Given the description of an element on the screen output the (x, y) to click on. 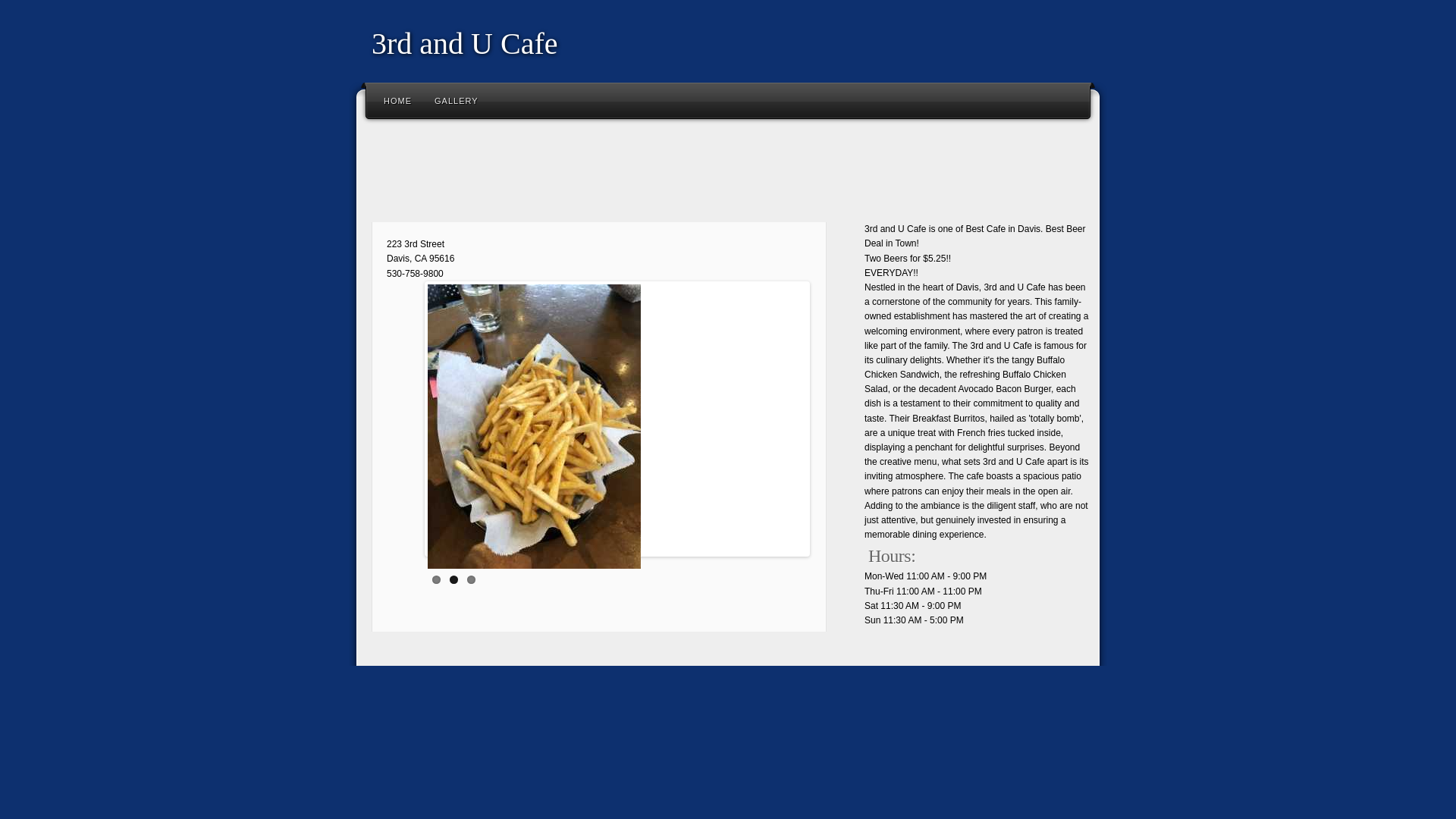
1 Element type: text (436, 579)
3rd and U Cafe Element type: text (464, 43)
3 Element type: text (471, 579)
HOME Element type: text (397, 99)
GALLERY Element type: text (456, 99)
2 Element type: text (453, 579)
Advertisement Element type: hover (640, 174)
